Given the description of an element on the screen output the (x, y) to click on. 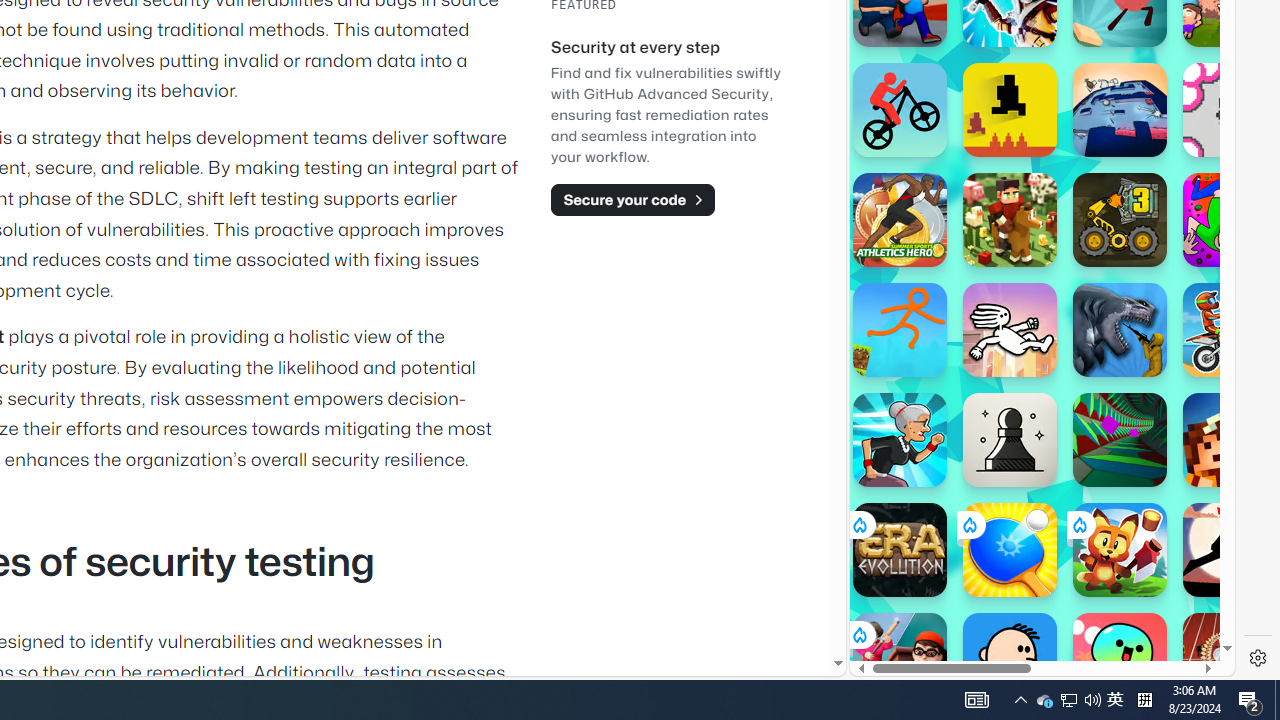
The Speed Ninja (1229, 549)
Fox Island Builder Fox Island Builder (1119, 549)
Hills of Steel Hills of Steel poki.com (943, 245)
Combat Reloaded (1090, 290)
The Speed Ninja The Speed Ninja (1229, 549)
Dreadhead Parkour (1009, 329)
Sharkosaurus Rampage Sharkosaurus Rampage (1119, 329)
JollyWorld JollyWorld (1229, 219)
Fox Island Builder (1119, 549)
